Given the description of an element on the screen output the (x, y) to click on. 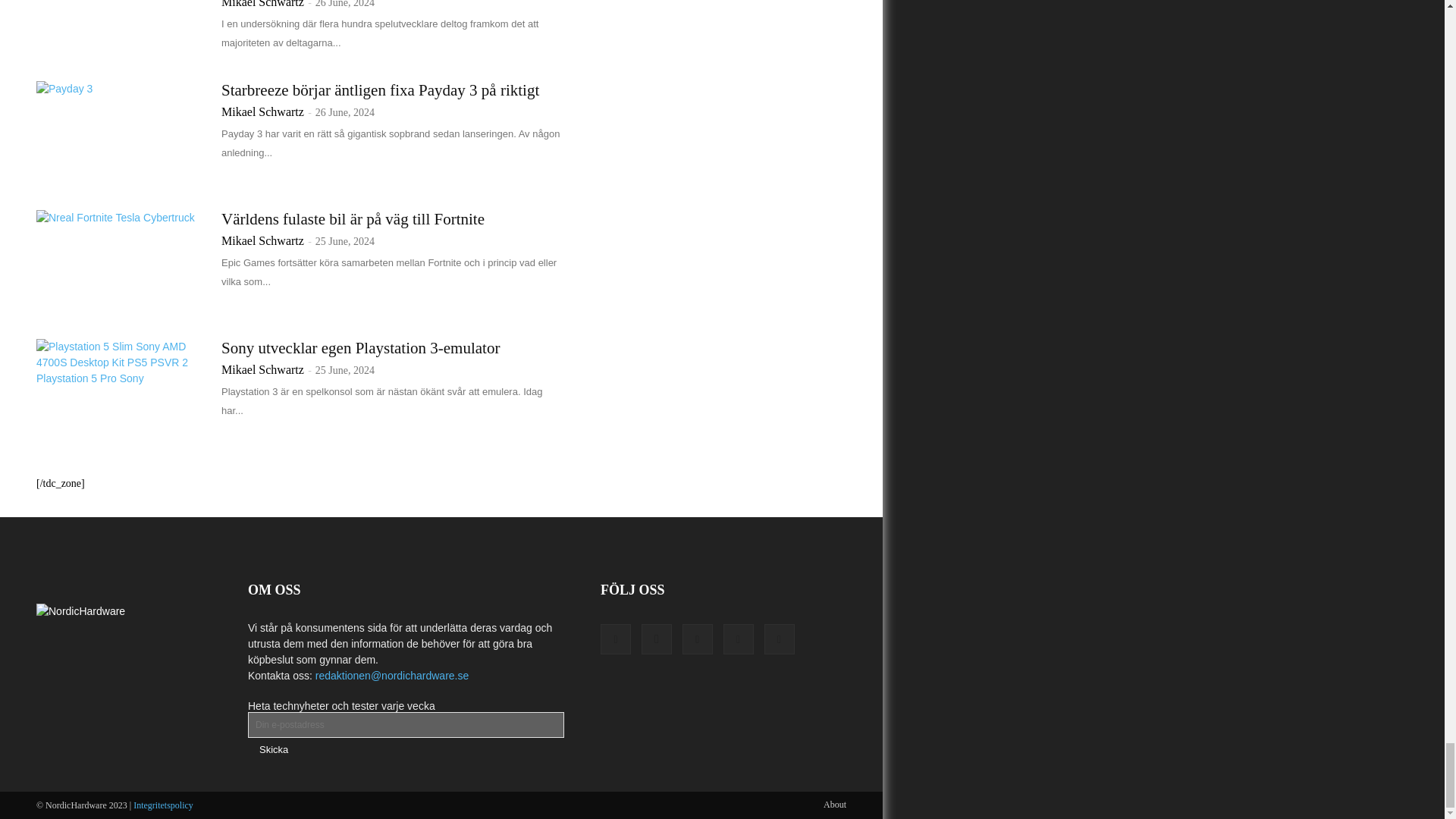
Skicka (273, 749)
